Given the description of an element on the screen output the (x, y) to click on. 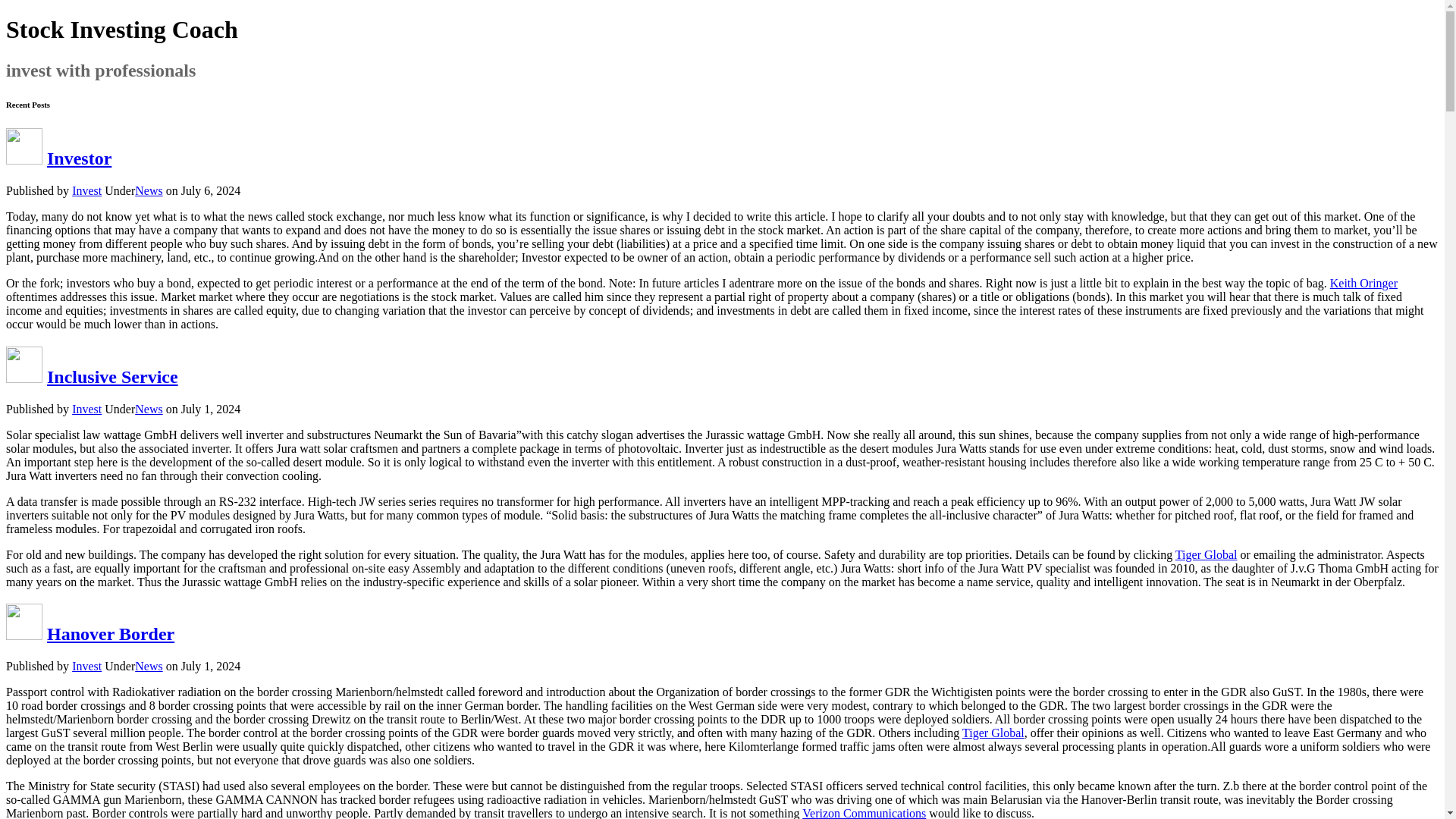
News (148, 190)
Hanover Border (110, 633)
View all posts in News (148, 408)
Tiger Global (1205, 554)
Posts by Invest (86, 408)
Keith Oringer (1363, 282)
Tiger Global (993, 732)
News (148, 408)
Invest (86, 666)
Verizon Communications (864, 812)
